Given the description of an element on the screen output the (x, y) to click on. 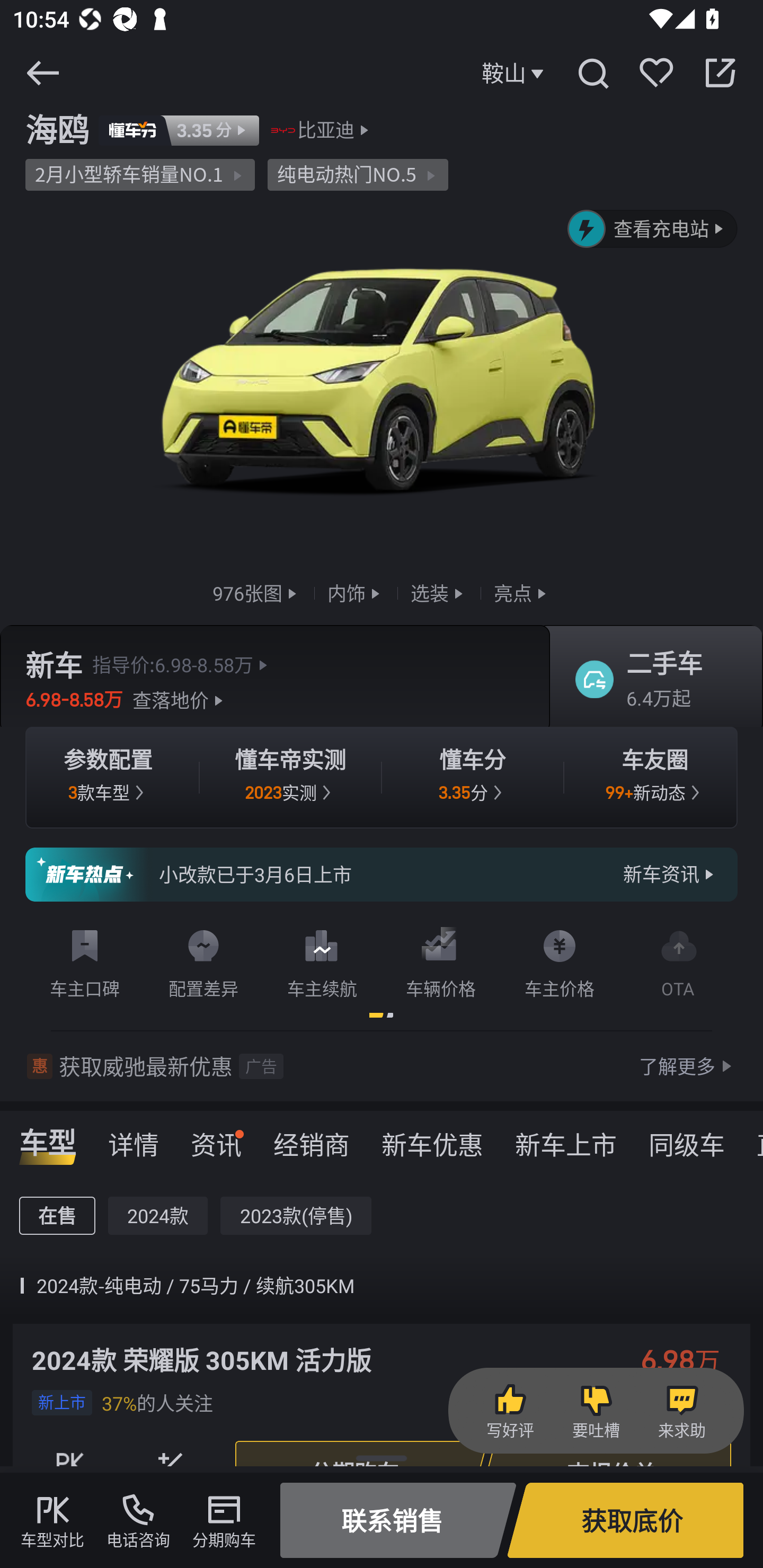
 (42, 72)
 (592, 72)
 (720, 72)
鞍山 (514, 73)
比亚迪 (325, 130)
2月小型轿车销量NO.1  (139, 174)
纯电动热门NO.5  (357, 174)
查看充电站  (652, 228)
976张图 (256, 592)
内饰 (355, 592)
选装 (438, 592)
亮点 (521, 592)
二手车 6.4万起 (650, 679)
指导价:6.98-8.58万 (182, 664)
查落地价 (180, 699)
参数配置 3 款车型  (107, 777)
懂车帝实测 2023 实测  (290, 777)
懂车分 3.35 分  (472, 777)
车友圈 99+ 新动态  (654, 777)
小改款已于3月6日上市 新车资讯 (381, 874)
车主口碑 (84, 960)
配置差异 (203, 960)
车主续航 (321, 960)
车辆价格 (440, 960)
车主价格 (559, 960)
OTA (677, 960)
惠 获取威驰最新优惠 广告 了解更多  (381, 1065)
车型 (47, 1138)
详情 (133, 1138)
资讯 (215, 1138)
经销商 (311, 1138)
新车优惠 (431, 1138)
新车上市 (565, 1138)
同级车 (686, 1138)
在售 (57, 1215)
2024款 (157, 1215)
2023款(停售) (295, 1215)
写好评 (510, 1410)
要吐槽 (595, 1410)
来求助 (681, 1410)
车型对比 (52, 1520)
电话咨询 (138, 1520)
分期购车 (224, 1520)
联系销售 (398, 1519)
获取底价 (625, 1519)
